Given the description of an element on the screen output the (x, y) to click on. 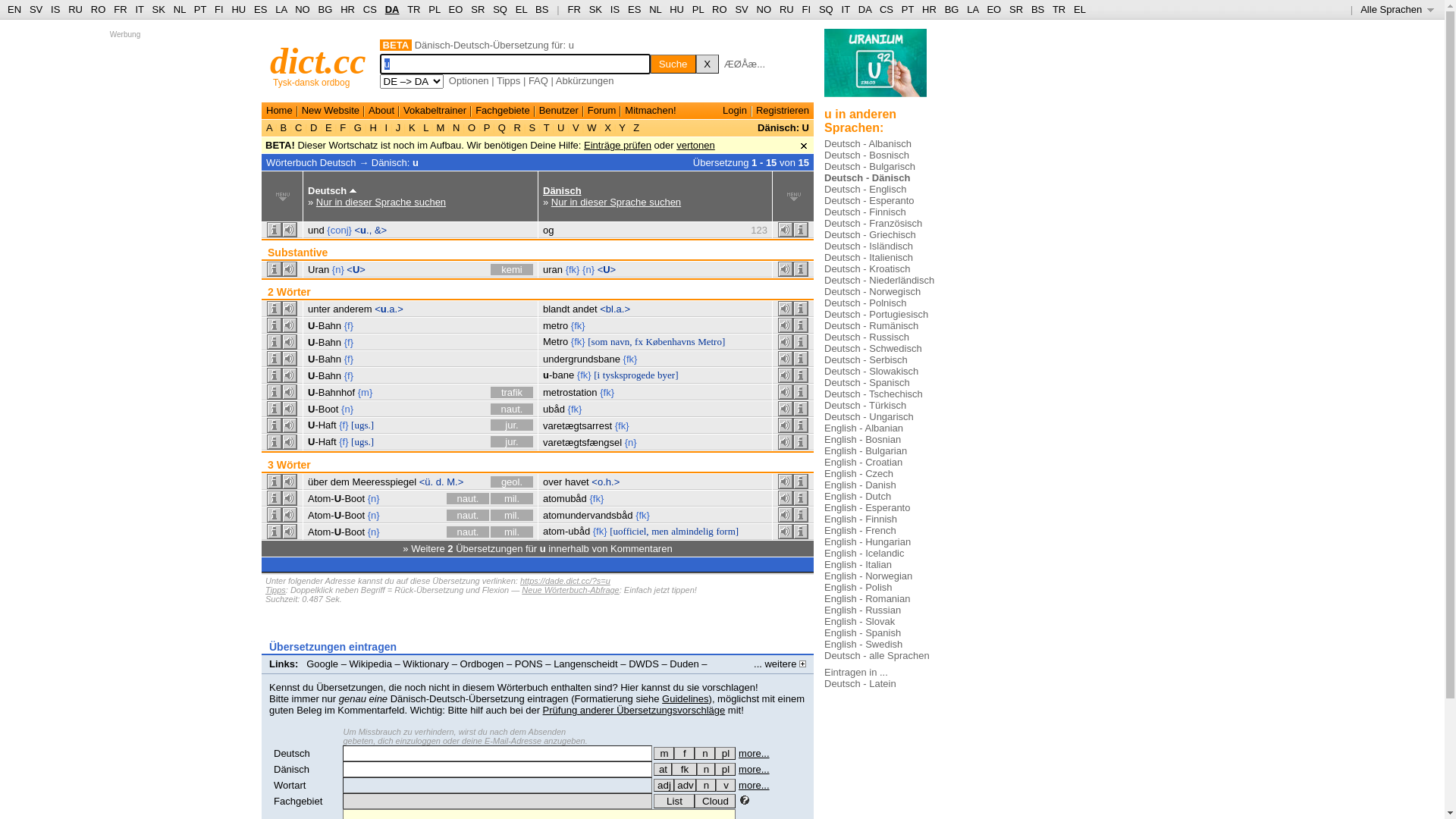
[i Element type: text (596, 374)
fk Element type: text (683, 768)
blandt Element type: text (555, 308)
SK Element type: text (595, 9)
Meeresspiegel Element type: text (384, 481)
New Website Element type: text (330, 110)
English - Hungarian Element type: text (867, 541)
IT Element type: text (845, 9)
byer] Element type: text (667, 374)
SV Element type: text (740, 9)
HR Element type: text (929, 9)
flertal Element type: hover (725, 768)
Y Element type: text (621, 127)
naut. Element type: text (511, 408)
Wikipedia Element type: text (370, 663)
PT Element type: text (907, 9)
RO Element type: text (719, 9)
EO Element type: text (993, 9)
English - Finnish Element type: text (860, 518)
PL Element type: text (433, 9)
Tipps Element type: text (508, 80)
FAQ Element type: text (538, 80)
PL Element type: text (697, 9)
almindelig Element type: text (692, 530)
Deutsch - Slowakisch Element type: text (871, 370)
E Element type: text (328, 127)
Deutsch - Russisch Element type: text (866, 336)
HU Element type: text (676, 9)
und Element type: text (315, 229)
Deutsch - Norwegisch Element type: text (872, 291)
Deutsch - Latein Element type: text (860, 683)
SR Element type: text (1015, 9)
NL Element type: text (655, 9)
<u.a.> Element type: text (388, 308)
BG Element type: text (325, 9)
DWDS Element type: text (643, 663)
J Element type: text (397, 127)
geol. Element type: text (511, 481)
CS Element type: text (369, 9)
Google Element type: text (322, 663)
at Element type: text (662, 768)
dem Element type: text (339, 481)
L Element type: text (425, 127)
pl Element type: text (725, 768)
Deutsch - Albanisch Element type: text (867, 143)
trafik Element type: text (511, 392)
dict.cc Element type: text (317, 60)
O Element type: text (470, 127)
<U> Element type: text (606, 269)
Tipps Element type: text (275, 589)
andet Element type: text (584, 308)
n Element type: text (705, 768)
d. Element type: text (440, 481)
men Element type: text (659, 530)
naut. Element type: text (467, 514)
RU Element type: text (75, 9)
[ugs.] Element type: text (362, 441)
die - weiblich (Femininum) Element type: hover (684, 752)
Duden Element type: text (683, 663)
Metro Element type: text (554, 341)
English - Swedish Element type: text (863, 643)
English - Czech Element type: text (858, 473)
Benutzer Element type: text (558, 110)
v Element type: text (725, 784)
adv Element type: text (685, 784)
<u., Element type: text (363, 229)
undergrundsbane Element type: text (581, 358)
SV Element type: text (35, 9)
DA Element type: text (864, 9)
BG Element type: text (951, 9)
jur. Element type: text (511, 441)
ES Element type: text (633, 9)
P Element type: text (486, 127)
<bl.a.> Element type: text (614, 308)
Eintragen in ... Element type: text (856, 671)
IT Element type: text (138, 9)
TR Element type: text (413, 9)
<o.h.> Element type: text (605, 481)
CS Element type: text (886, 9)
LA Element type: text (972, 9)
N Element type: text (455, 127)
Guidelines Element type: text (685, 698)
About Element type: text (381, 110)
naut. Element type: text (467, 498)
[ugs.] Element type: text (362, 424)
Atom-U-Boot Element type: text (335, 514)
SK Element type: text (158, 9)
A Element type: text (270, 127)
FI Element type: text (806, 9)
Home Element type: text (279, 110)
Atom-U-Boot Element type: text (335, 531)
F Element type: text (342, 127)
n Element type: text (704, 752)
English - Danish Element type: text (860, 484)
more... Element type: text (753, 753)
English - Icelandic Element type: text (864, 552)
Deutsch - Ungarisch Element type: text (868, 416)
English - Esperanto Element type: text (867, 507)
Deutsch - Finnisch Element type: text (865, 211)
Deutsch - Esperanto Element type: text (869, 200)
ES Element type: text (260, 9)
Deutsch - Bosnisch Element type: text (866, 154)
English - Russian Element type: text (862, 609)
B Element type: text (283, 127)
Deutsch - Portugiesisch Element type: text (876, 314)
C Element type: text (297, 127)
U-Haft Element type: text (321, 424)
Alle Sprachen  Element type: text (1397, 9)
English - Slovak Element type: text (859, 621)
EL Element type: text (1079, 9)
fx Element type: text (638, 341)
naut. Element type: text (467, 531)
M Element type: text (440, 127)
X Element type: text (707, 63)
U Element type: text (560, 127)
V Element type: text (575, 127)
W Element type: text (591, 127)
Deutsch - Polnisch Element type: text (865, 302)
RU Element type: text (786, 9)
more... Element type: text (753, 784)
navn, Element type: text (621, 341)
NL Element type: text (179, 9)
G Element type: text (357, 127)
Metro] Element type: text (710, 341)
Nur in dieser Sprache suchen Element type: text (615, 201)
RO Element type: text (98, 9)
Ordbogen Element type: text (482, 663)
mil. Element type: text (511, 514)
pl Element type: text (725, 752)
Deutsch - Spanisch Element type: text (867, 382)
English - Bulgarian Element type: text (865, 450)
Deutsch - Italienisch Element type: text (868, 257)
SR Element type: text (477, 9)
NO Element type: text (763, 9)
mil. Element type: text (511, 531)
U-Bahn Element type: text (324, 375)
Cloud Element type: text (714, 800)
Deutsch - Griechisch Element type: text (870, 234)
List Element type: text (673, 800)
symbol for the chemical element ... Element type: hover (875, 68)
English - Croatian Element type: text (863, 461)
HR Element type: text (347, 9)
https://dade.dict.cc/?s=u Element type: text (565, 580)
Optionen Element type: text (468, 80)
BS Element type: text (1037, 9)
SQ Element type: text (826, 9)
LA Element type: text (280, 9)
more... Element type: text (753, 769)
anderem Element type: text (351, 308)
Nur in dieser Sprache suchen Element type: text (380, 201)
FR Element type: text (573, 9)
U-Bahn Element type: text (324, 342)
English - Italian Element type: text (857, 564)
Fachgebiete Element type: text (502, 110)
Login Element type: text (734, 110)
Registrieren Element type: text (782, 110)
IS Element type: text (614, 9)
Forum Element type: text (601, 110)
Deutsch - Bulgarisch Element type: text (869, 166)
&> Element type: text (380, 229)
HU Element type: text (238, 9)
NO Element type: text (302, 9)
R Element type: text (517, 127)
English - Romanian Element type: text (867, 598)
mil. Element type: text (511, 498)
og Element type: text (547, 229)
form] Element type: text (726, 530)
Wiktionary Element type: text (425, 663)
u Element type: text (415, 161)
English - Albanian Element type: text (863, 427)
EL Element type: text (521, 9)
Links anpassen Element type: text (306, 674)
Langenscheidt Element type: text (585, 663)
Uran Element type: text (318, 269)
U-Bahn Element type: text (324, 325)
Deutsch Element type: text (291, 753)
uran Element type: text (552, 269)
... weitere Element type: text (779, 663)
English - Polish Element type: text (858, 587)
Z Element type: text (636, 127)
Deutsch - Tschechisch Element type: text (873, 393)
D Element type: text (313, 127)
EO Element type: text (455, 9)
for verber Element type: hover (662, 768)
U-Boot Element type: text (322, 408)
K Element type: text (411, 127)
H Element type: text (373, 127)
TR Element type: text (1058, 9)
n Element type: text (705, 784)
FI Element type: text (218, 9)
T Element type: text (546, 127)
Deutsch - Kroatisch Element type: text (867, 268)
havet Element type: text (576, 481)
Suche Element type: text (673, 63)
Atom-U-Boot Element type: text (335, 498)
die - Mehrzahl (Plural) Element type: hover (725, 752)
U-Bahn Element type: text (324, 358)
u-bane Element type: text (558, 374)
PT Element type: text (200, 9)
tysksprogede Element type: text (628, 374)
English - French Element type: text (860, 530)
vertonen Element type: text (695, 144)
metrostation Element type: text (569, 392)
jur. Element type: text (511, 424)
adj Element type: text (663, 784)
Deutsch - Englisch Element type: text (865, 188)
FR Element type: text (119, 9)
[uofficiel, Element type: text (628, 530)
kemi Element type: text (511, 269)
EN Element type: text (14, 9)
Deutsch - Serbisch Element type: text (865, 359)
SQ Element type: text (499, 9)
X Element type: text (608, 127)
unter Element type: text (318, 308)
English - Bosnian Element type: text (862, 439)
English - Norwegian Element type: text (868, 575)
U-Bahnhof Element type: text (330, 392)
IS Element type: text (54, 9)
Q Element type: text (501, 127)
U-Haft Element type: text (321, 441)
BS Element type: text (541, 9)
PONS Element type: text (528, 663)
Mitmachen! Element type: text (649, 110)
<U> Element type: text (355, 269)
DA Element type: text (392, 9)
over Element type: text (551, 481)
English - Spanish Element type: text (862, 632)
Deutsch - Schwedisch Element type: text (873, 348)
m Element type: text (663, 752)
English - Dutch Element type: text (857, 496)
I Element type: text (386, 127)
f Element type: text (684, 752)
Deutsch - alle Sprachen Element type: text (876, 655)
M.> Element type: text (454, 481)
S Element type: text (532, 127)
Vokabeltrainer Element type: text (434, 110)
metro Element type: text (554, 325)
[som Element type: text (597, 341)
